Given the description of an element on the screen output the (x, y) to click on. 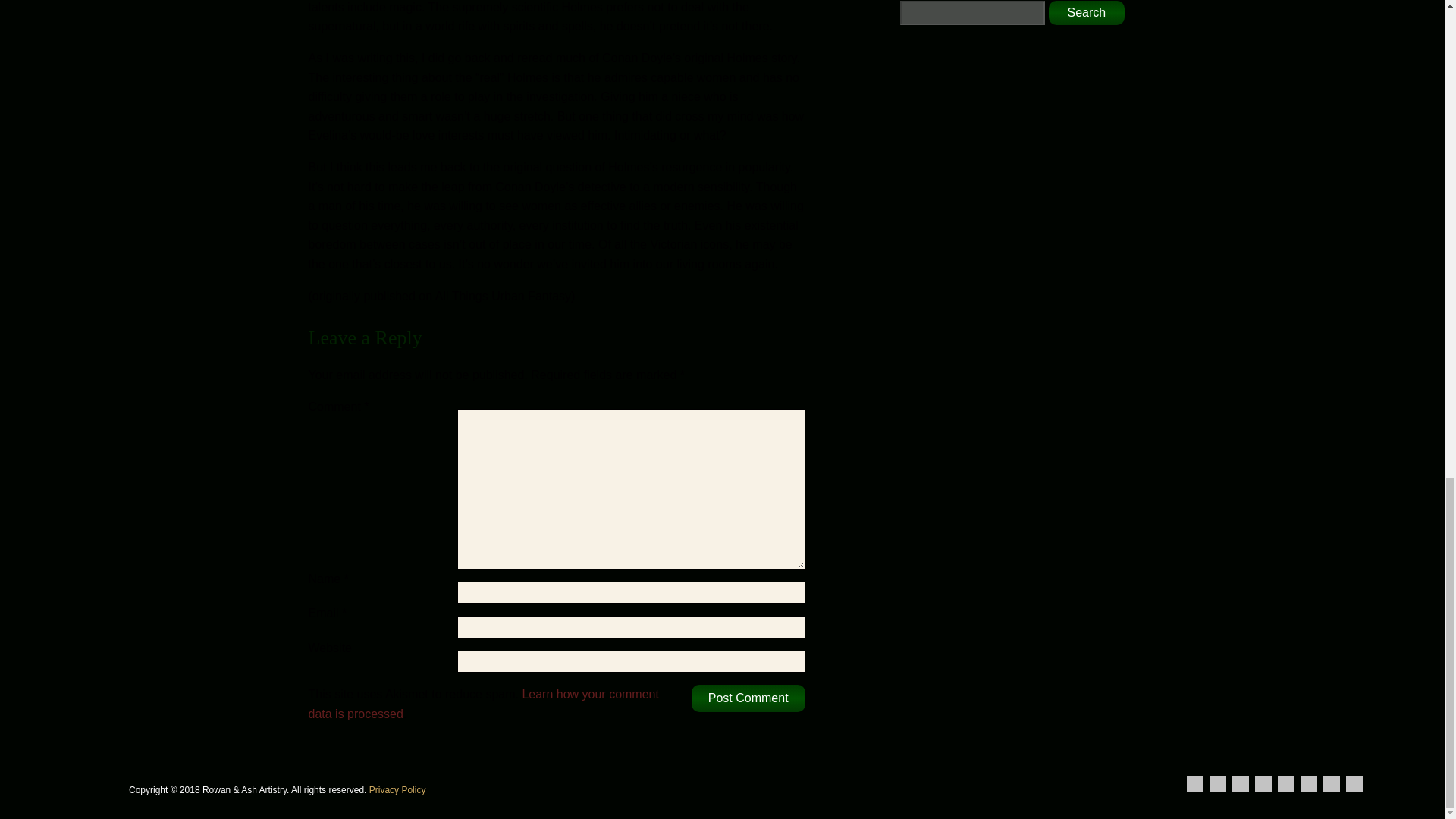
Post Comment (748, 697)
Post Comment (748, 697)
Learn how your comment data is processed (482, 703)
Search (1086, 12)
